Given the description of an element on the screen output the (x, y) to click on. 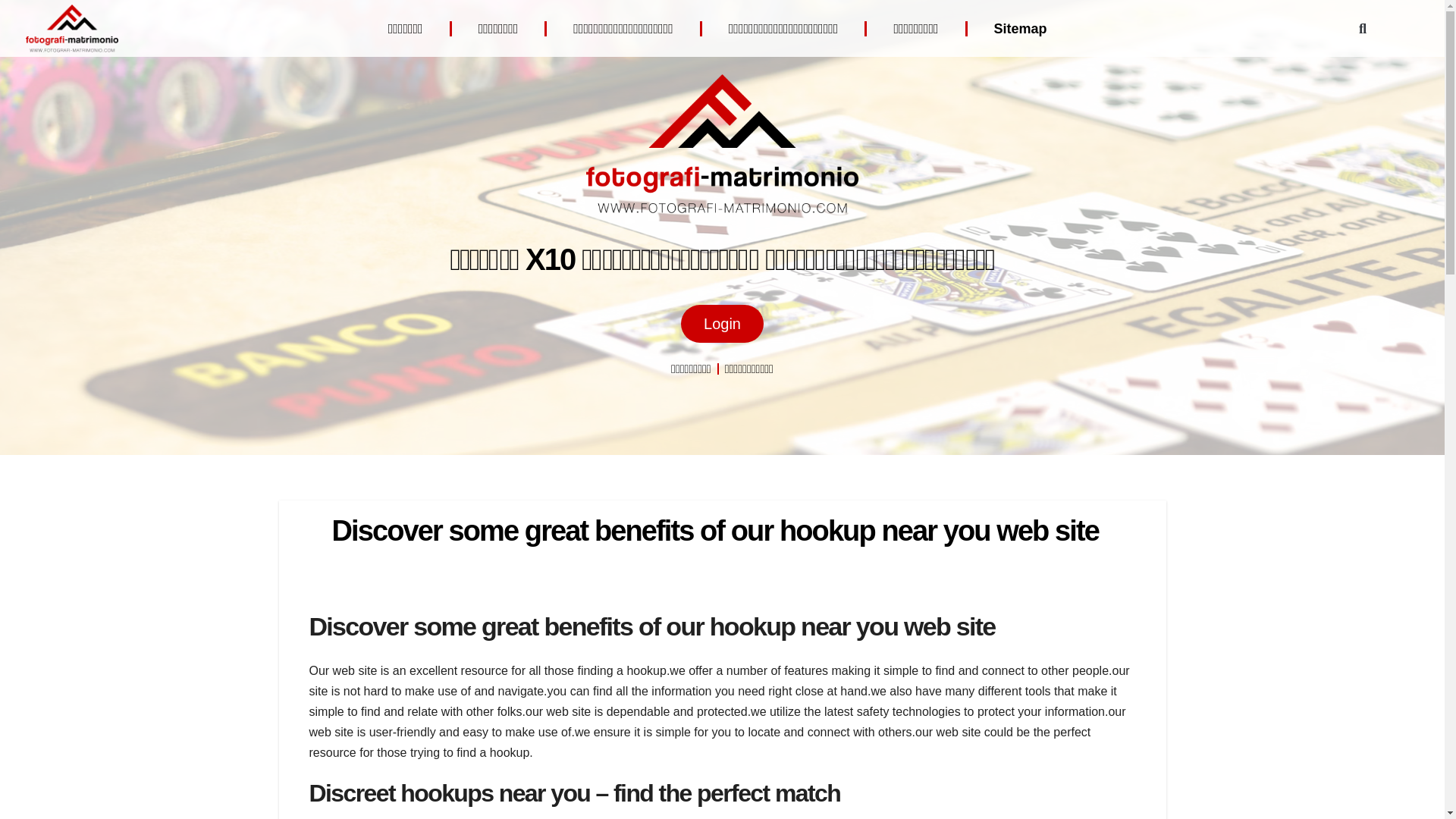
Login (721, 323)
Sitemap (1020, 27)
Discover some great benefits of our hookup near you web site (715, 531)
